Given the description of an element on the screen output the (x, y) to click on. 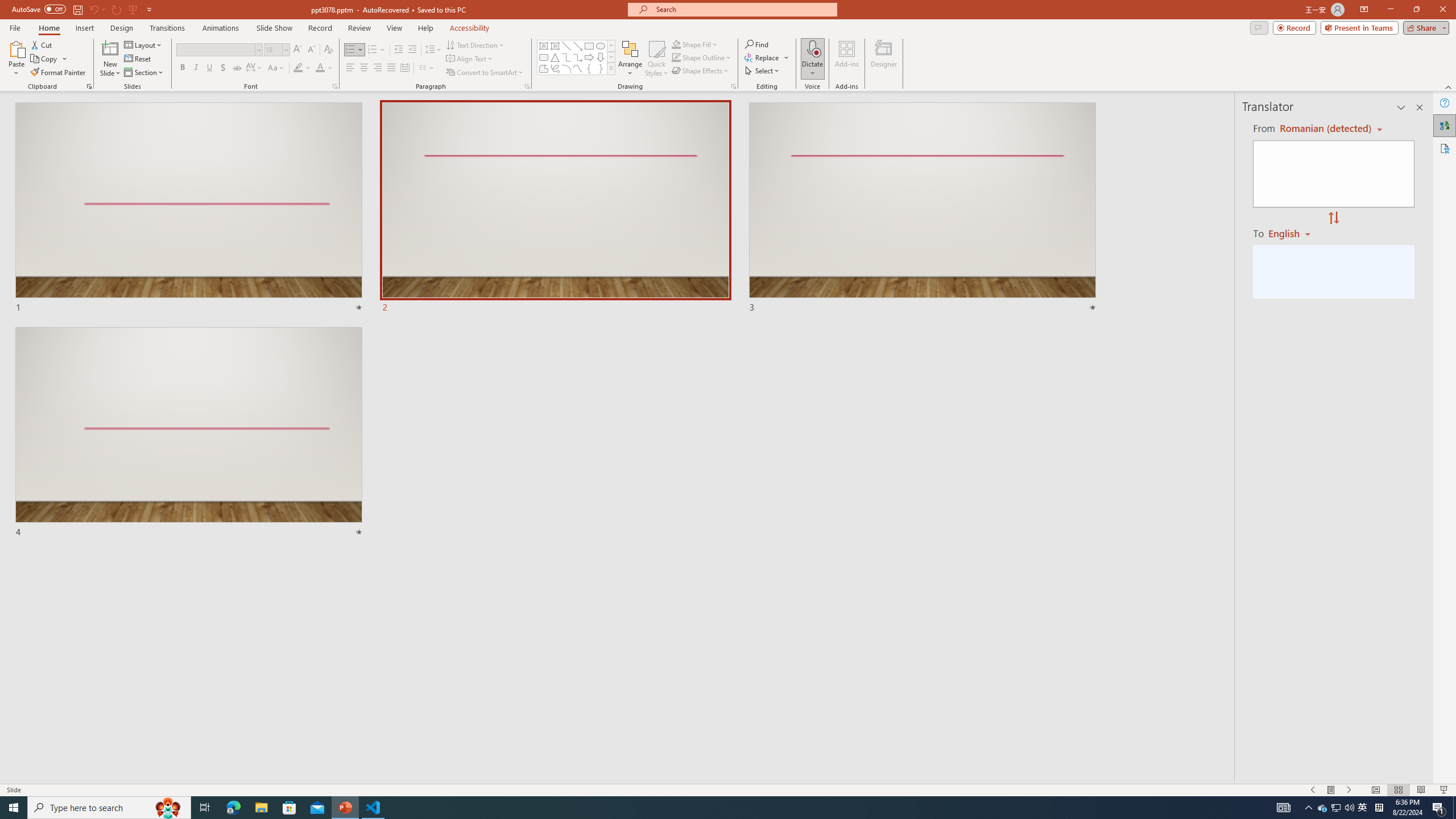
Swap "from" and "to" languages. (1333, 218)
